Given the description of an element on the screen output the (x, y) to click on. 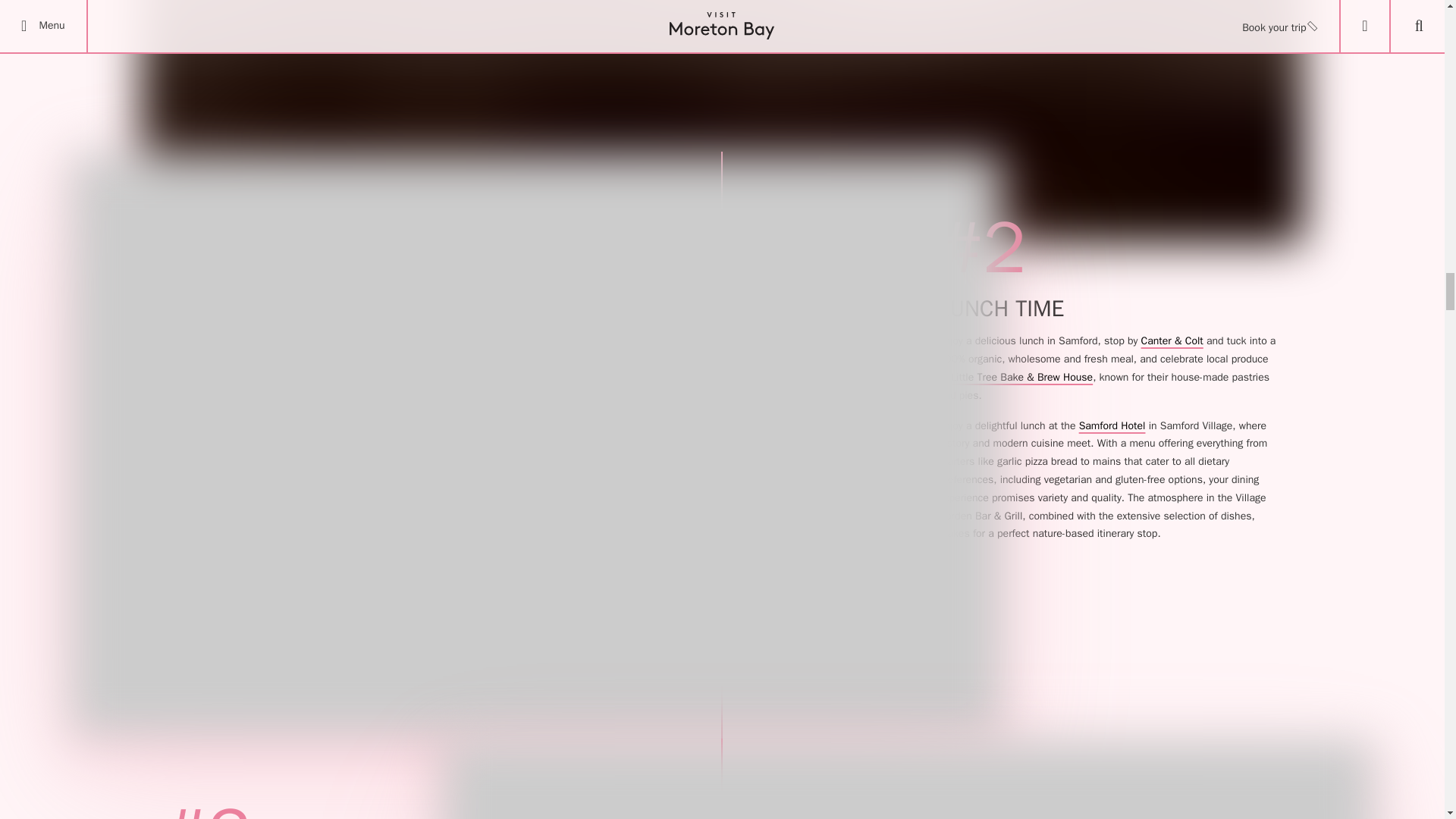
Samford Hotel (1111, 425)
